Given the description of an element on the screen output the (x, y) to click on. 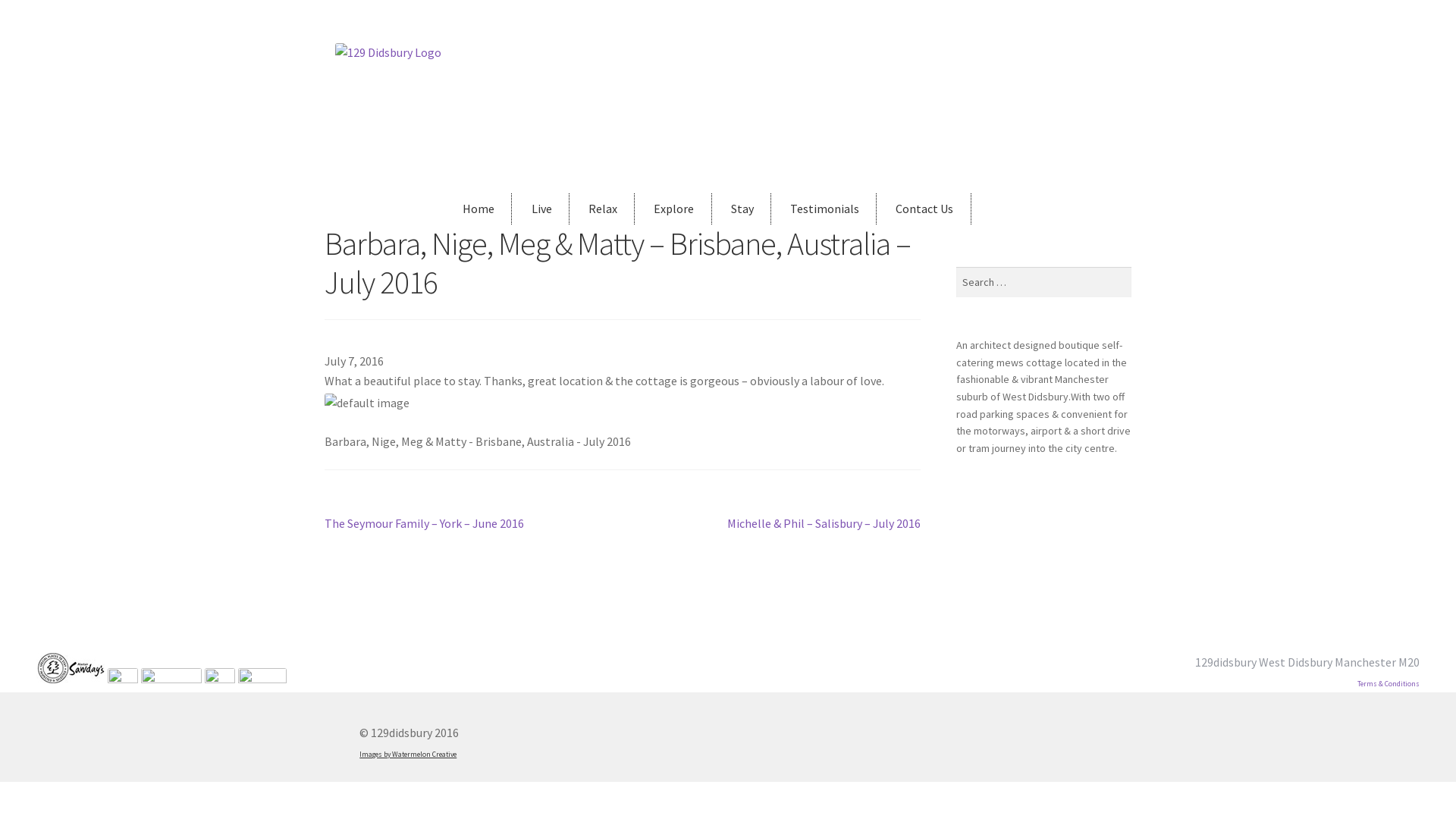
Explore Element type: text (674, 209)
Relax Element type: text (602, 209)
Contact Us Element type: text (924, 209)
Images by Watermelon Creative Element type: text (407, 754)
Search Element type: text (955, 266)
Stay Element type: text (742, 209)
Terms & Conditions Element type: text (1388, 683)
Home Element type: text (478, 209)
Live Element type: text (541, 209)
Testimonials Element type: text (824, 209)
